Given the description of an element on the screen output the (x, y) to click on. 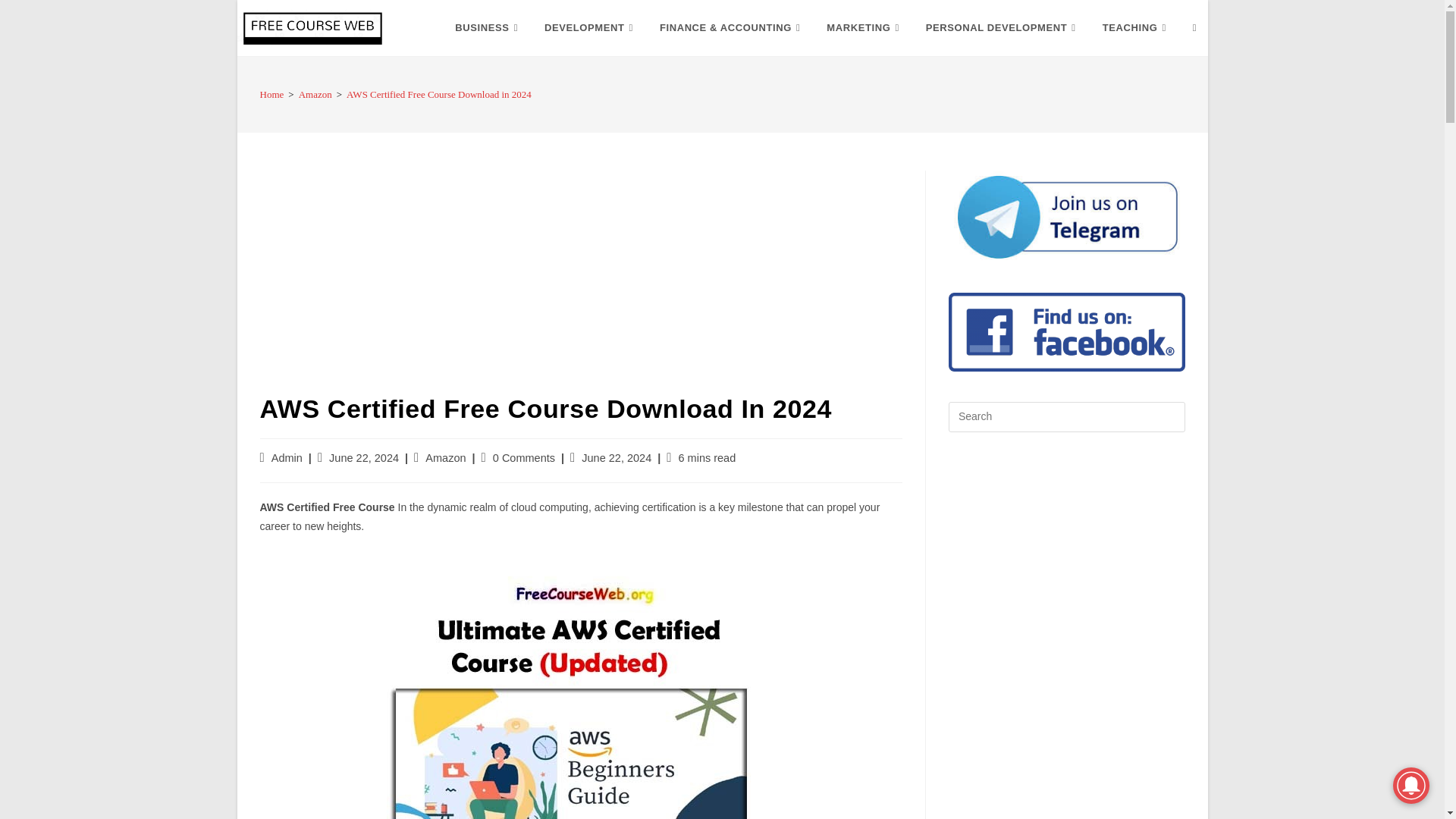
DEVELOPMENT (589, 28)
AWS Certified Free Course Download in 2024 (580, 685)
MARKETING (864, 28)
BUSINESS (488, 28)
Posts by Admin (286, 458)
